Given the description of an element on the screen output the (x, y) to click on. 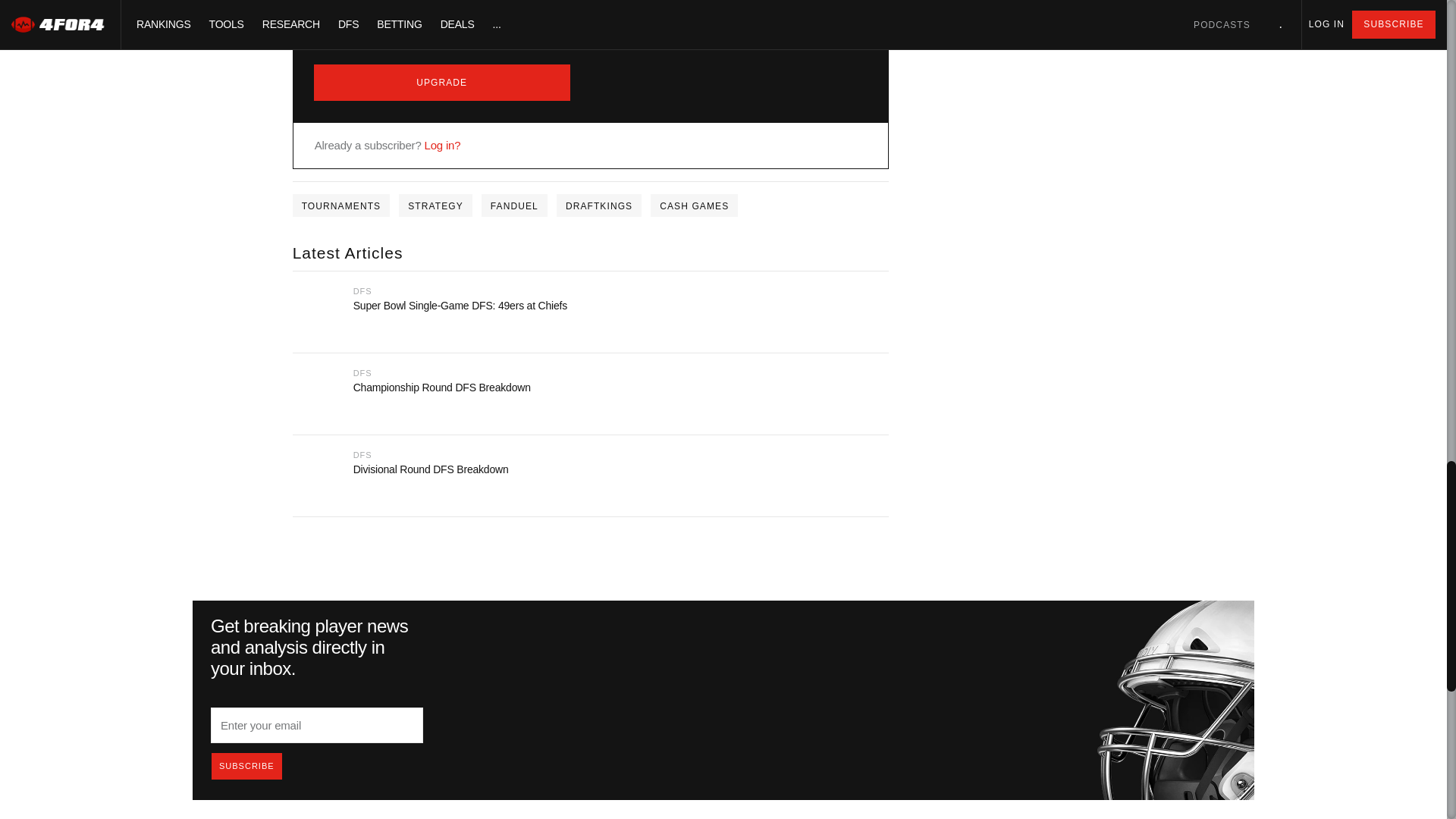
Subscribe (246, 766)
